Given the description of an element on the screen output the (x, y) to click on. 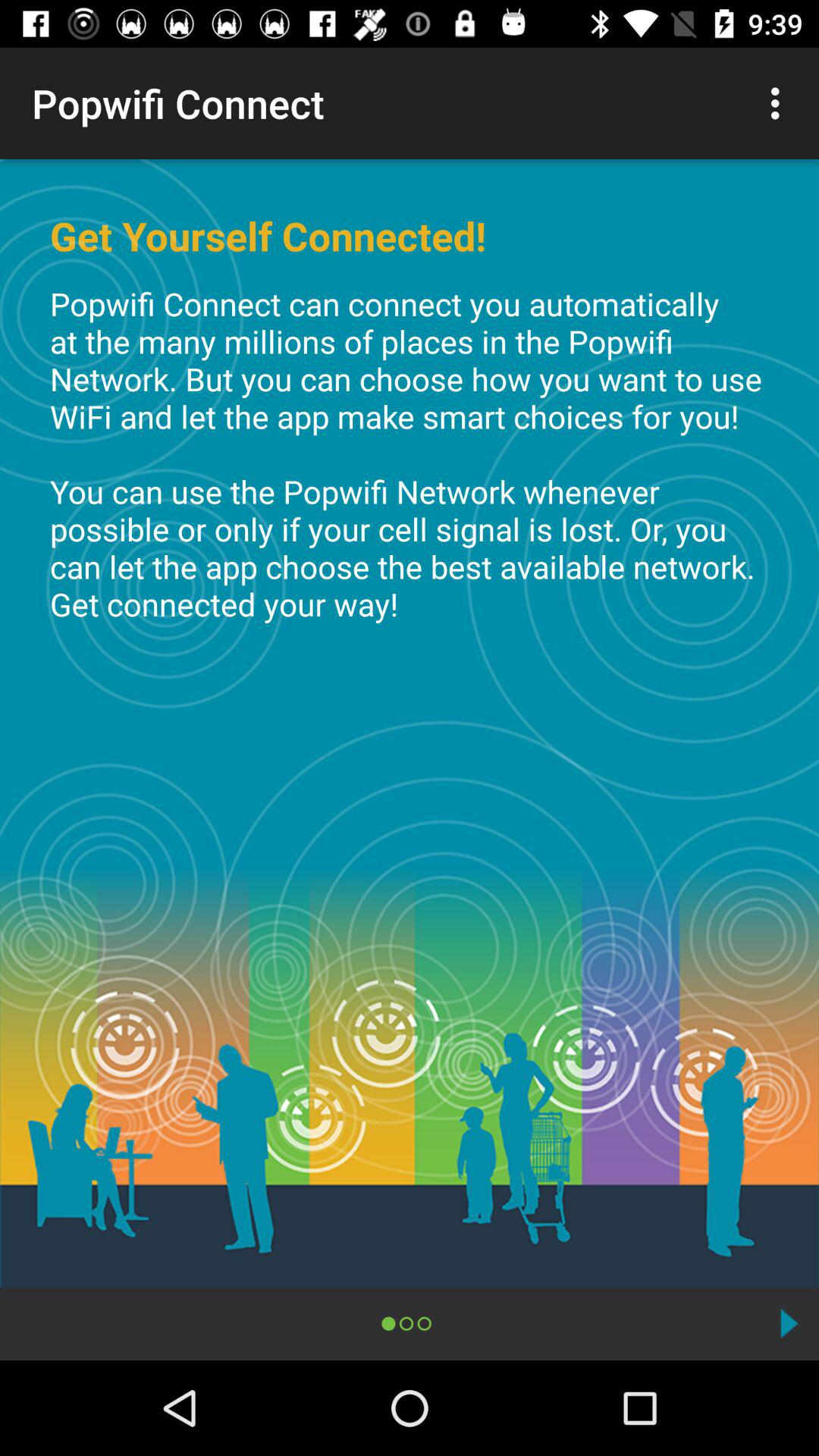
turn on icon at the top right corner (779, 103)
